Given the description of an element on the screen output the (x, y) to click on. 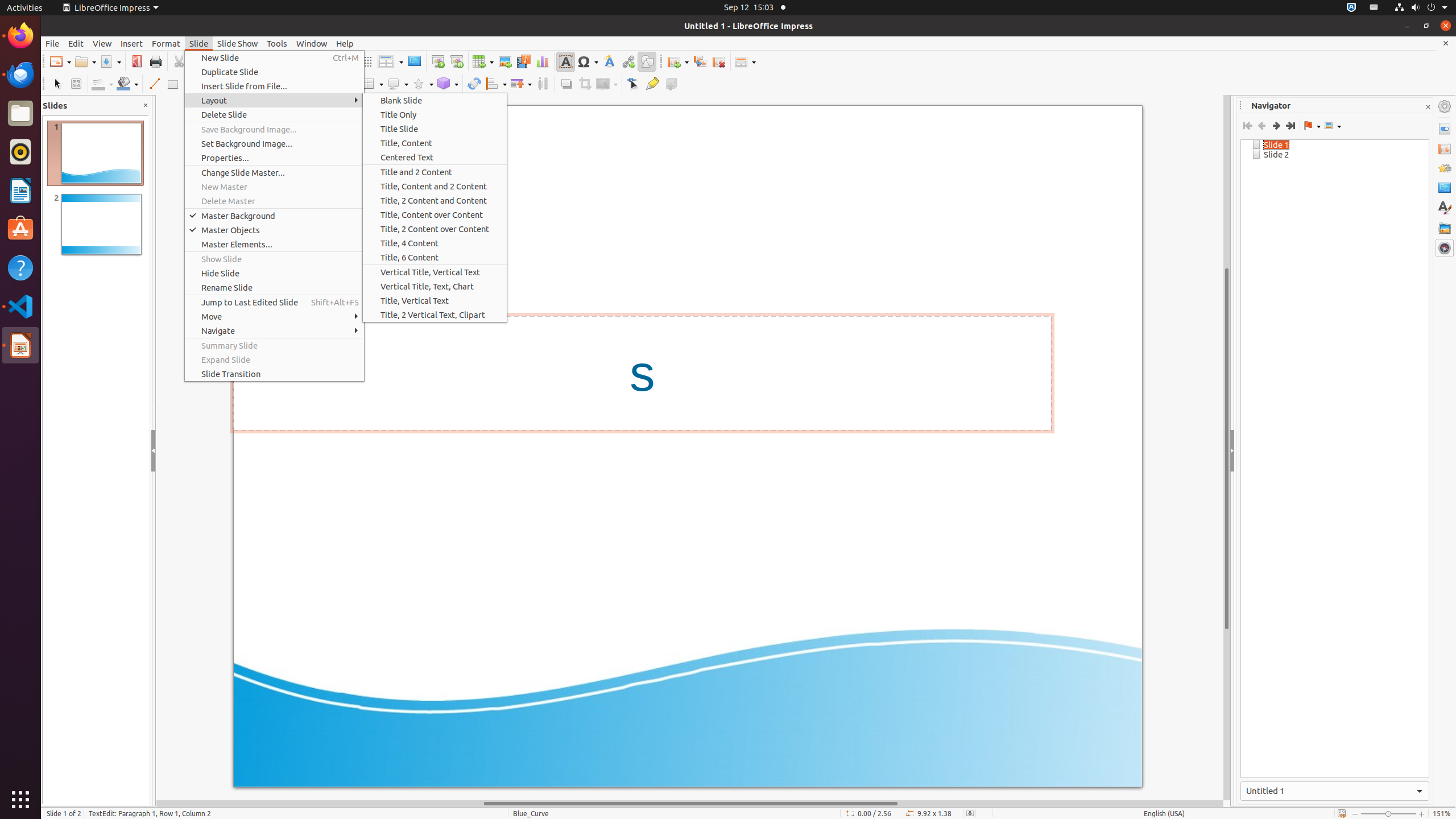
Window Element type: menu (311, 43)
Title Slide Element type: menu-item (434, 128)
New Master Element type: menu-item (274, 186)
Rename Slide Element type: menu-item (274, 287)
Show Shapes Element type: push-button (1332, 125)
